Given the description of an element on the screen output the (x, y) to click on. 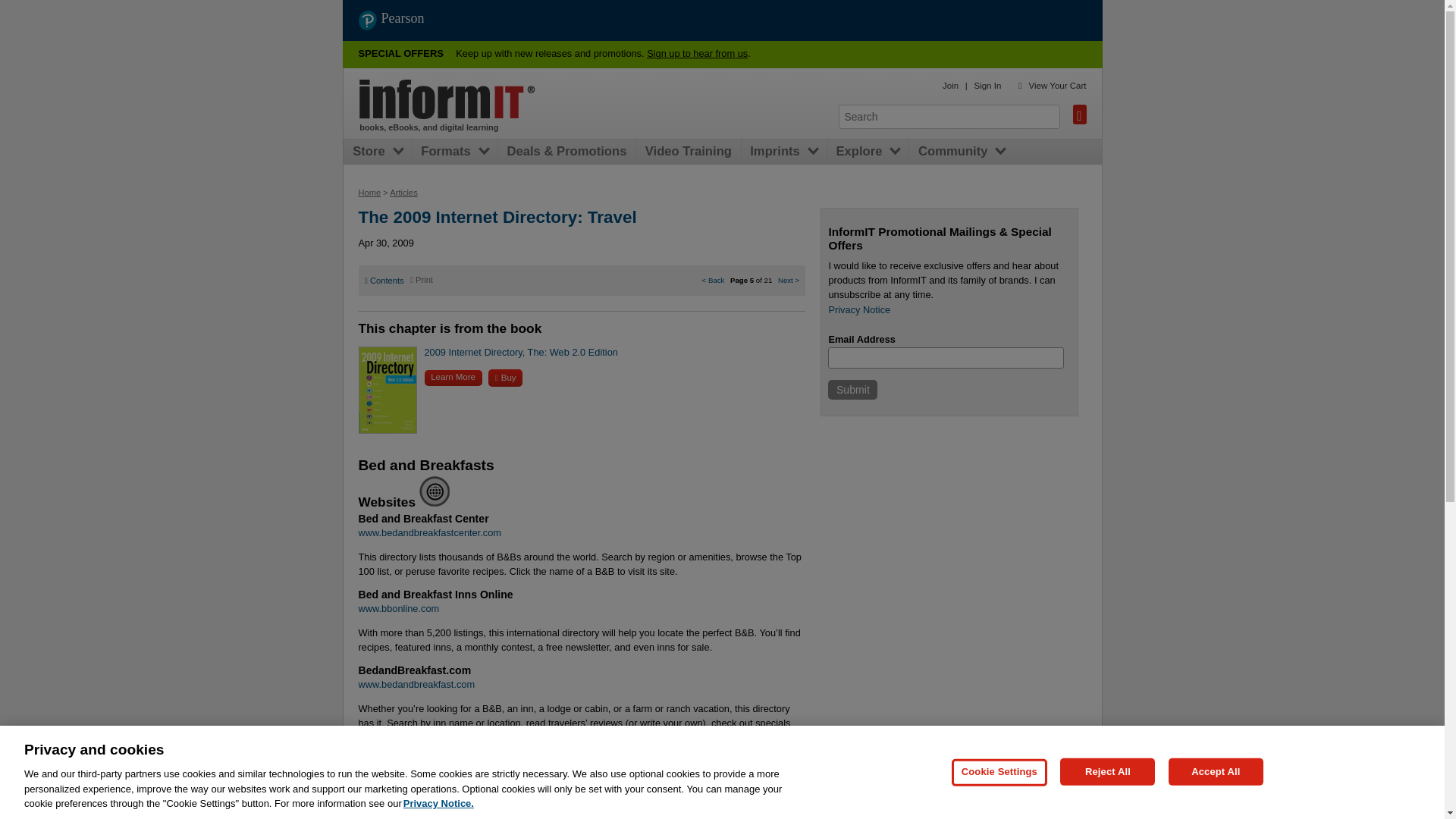
Home (369, 192)
The 2009 Internet Directory: Travel (497, 217)
Learn More (453, 377)
Print (421, 279)
www.bedandbreakfastcenter.com (429, 532)
Home (446, 98)
Articles (403, 192)
2009 Internet Directory, The: Web 2.0 Edition (521, 351)
Submit (852, 389)
Sign up to hear from us (697, 52)
